Given the description of an element on the screen output the (x, y) to click on. 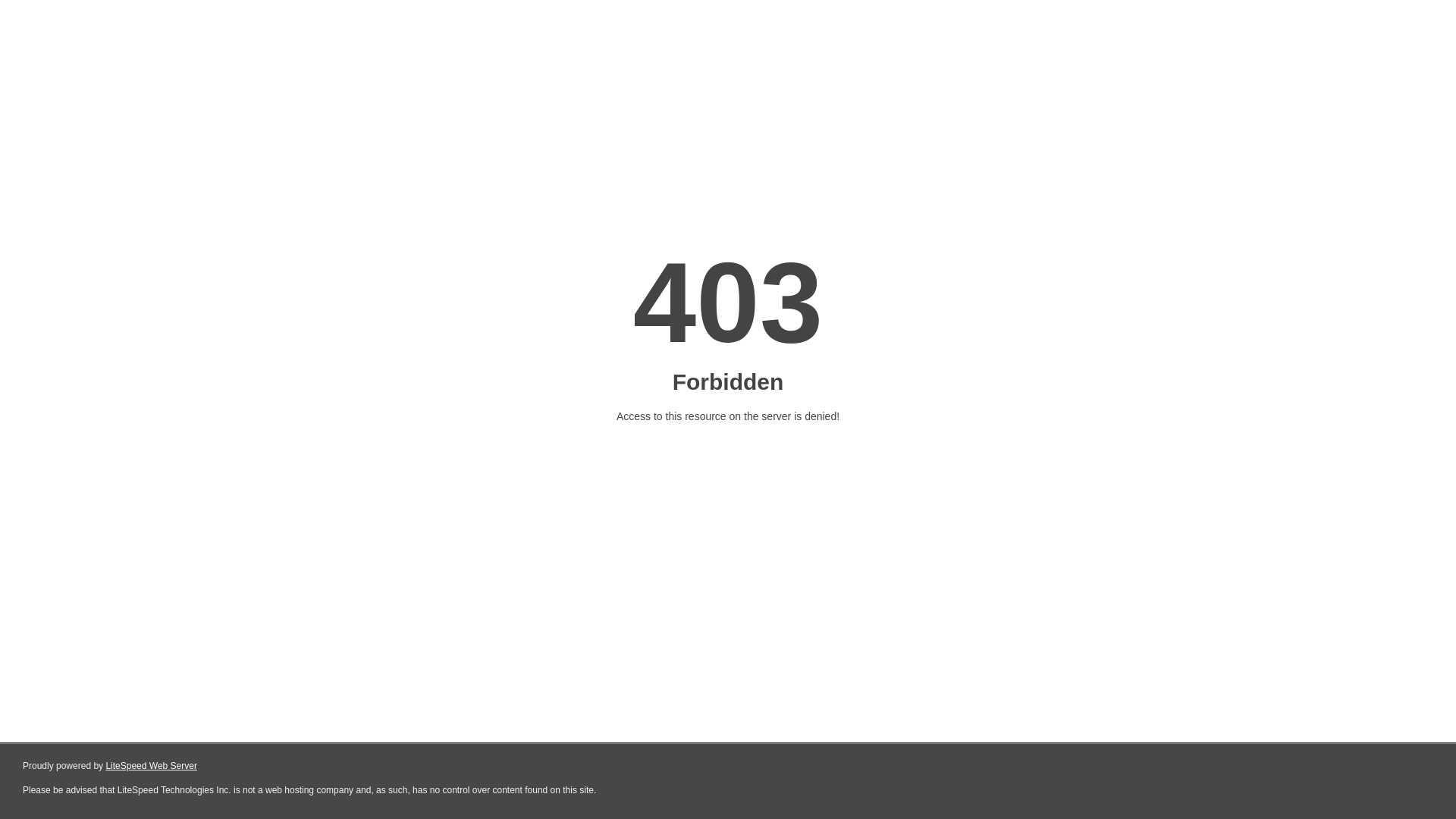
LiteSpeed Web Server Element type: text (151, 765)
